Given the description of an element on the screen output the (x, y) to click on. 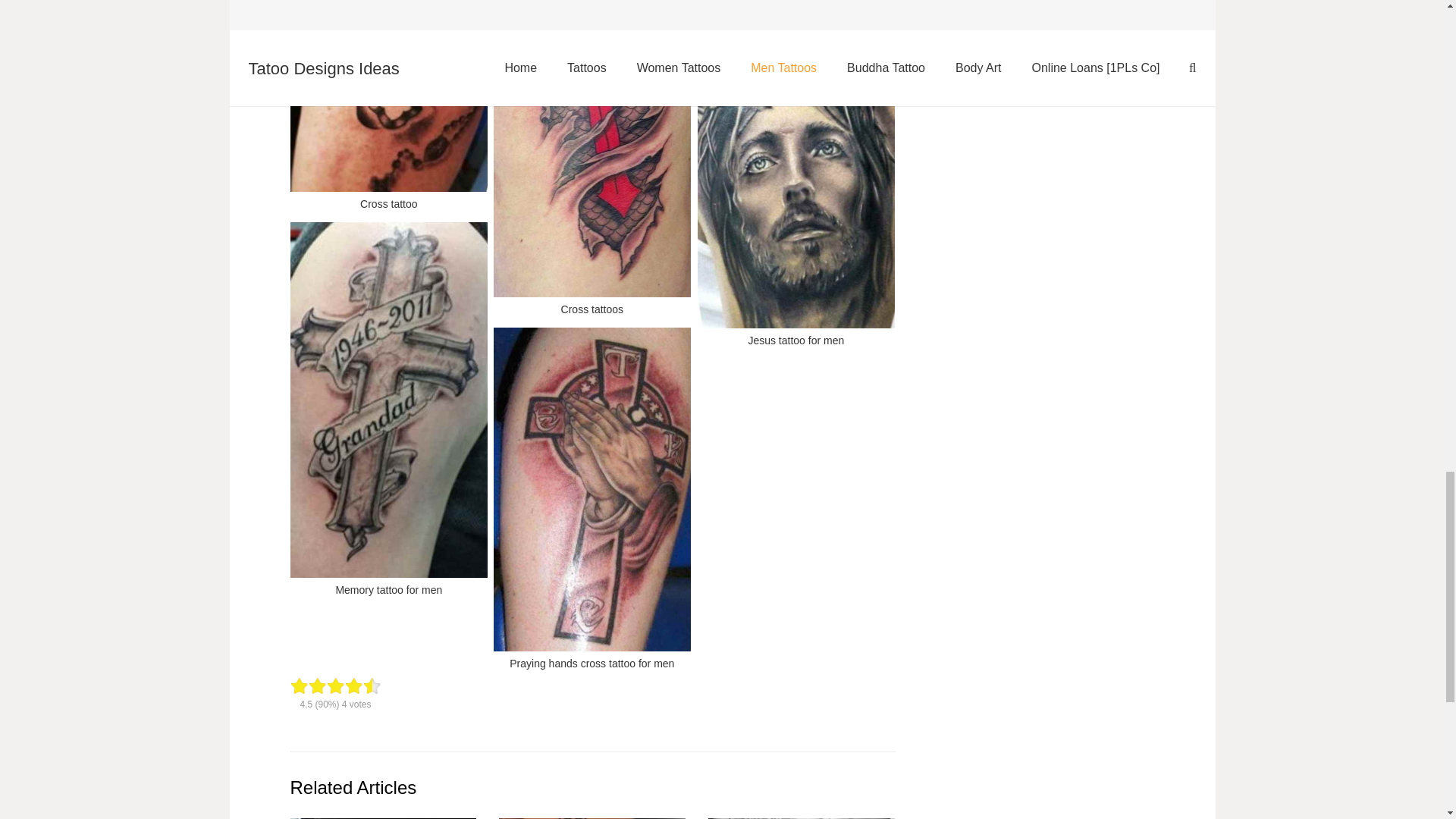
Cross tattoo (388, 110)
Cross tattoo (388, 110)
Chritian praying hands tattoos for men (796, 7)
Chritian praying hands tattoos for men (796, 7)
